Given the description of an element on the screen output the (x, y) to click on. 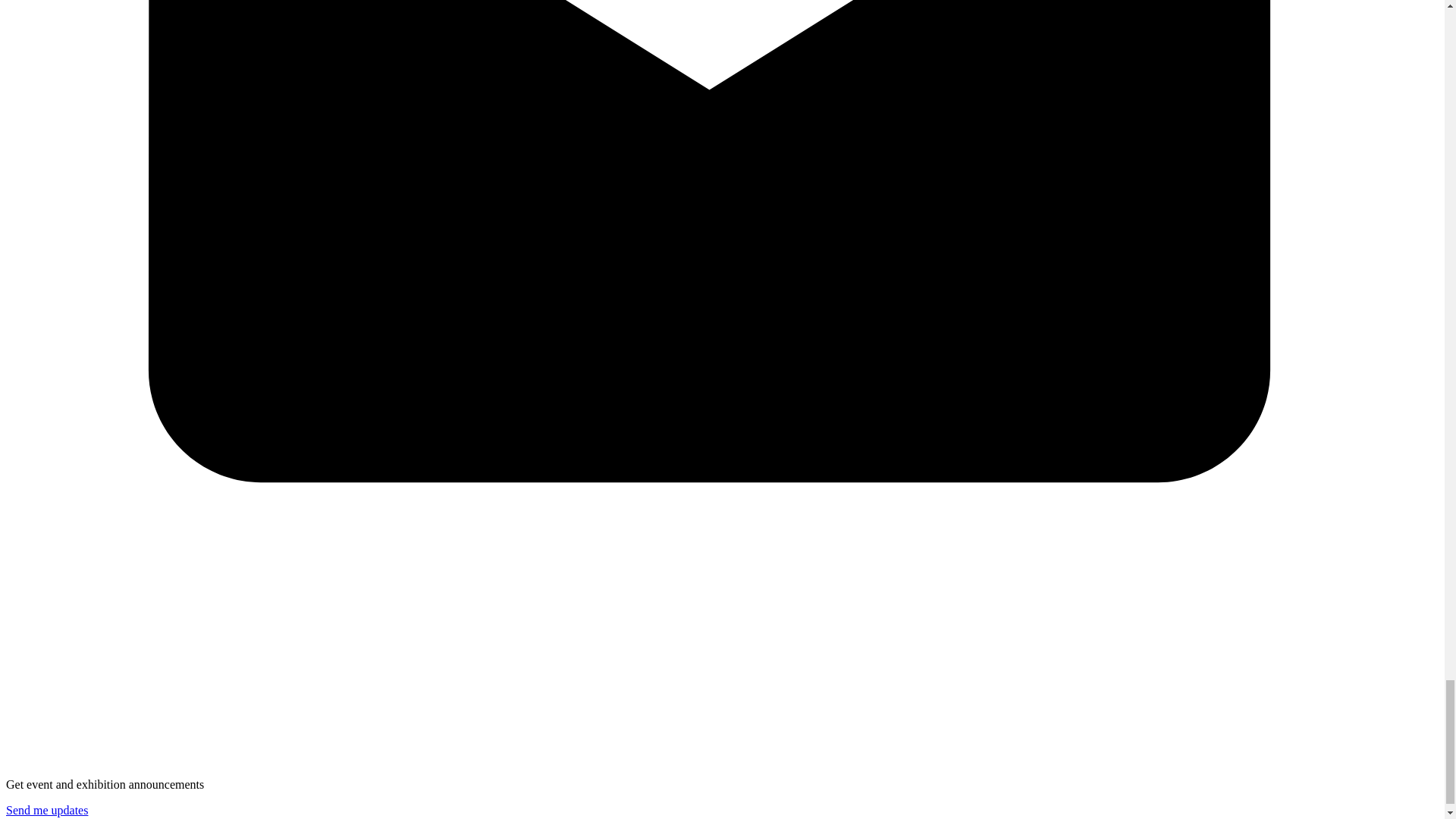
Send me updates (46, 809)
